Given the description of an element on the screen output the (x, y) to click on. 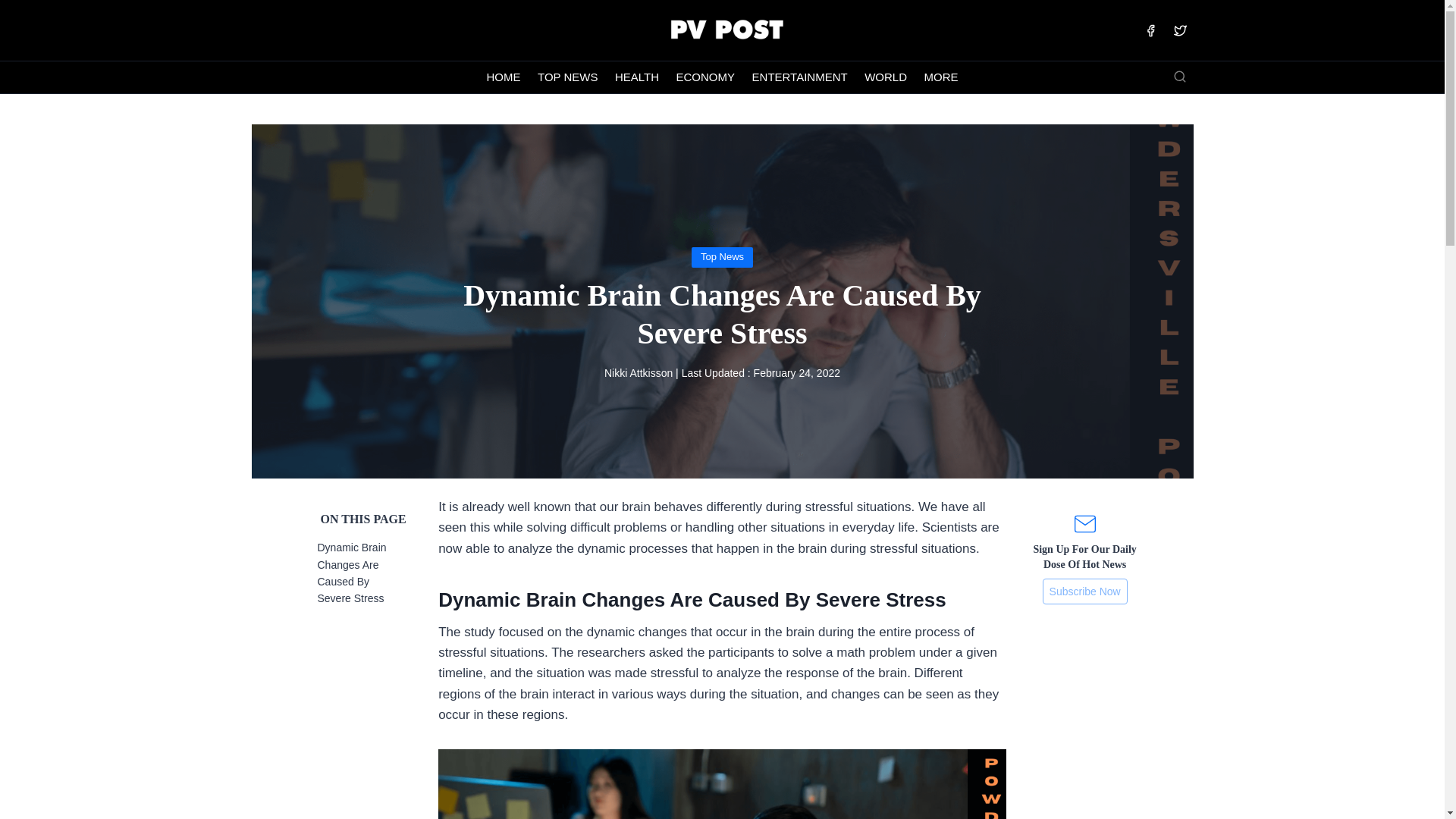
ENTERTAINMENT (799, 77)
HEALTH (637, 77)
ECONOMY (704, 77)
Dynamic Brain Changes Are Caused By Severe Stress (351, 572)
Top News (722, 256)
WORLD (885, 77)
HOME (503, 77)
TOP NEWS (568, 77)
Subscribe Now (1084, 591)
